Given the description of an element on the screen output the (x, y) to click on. 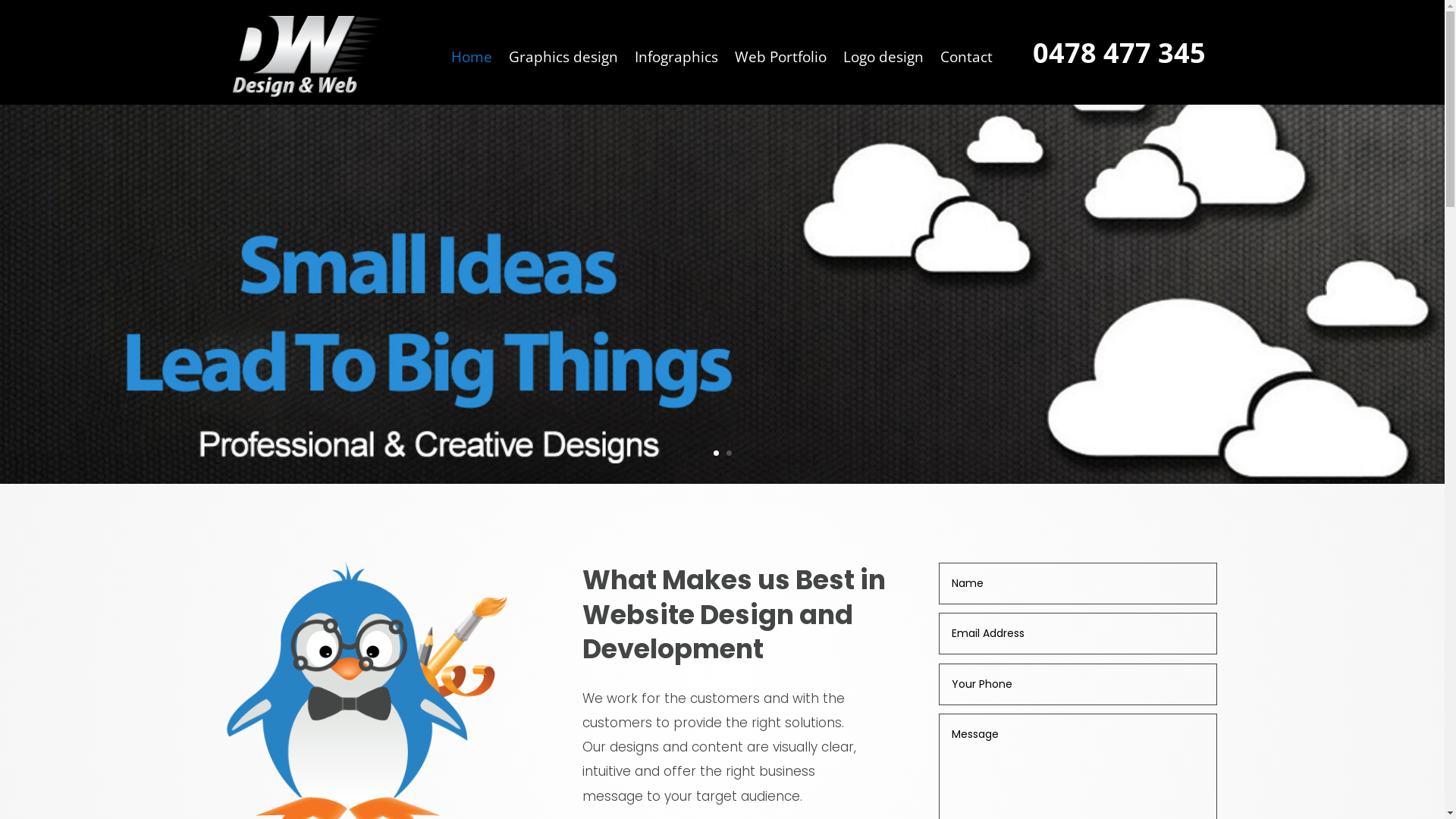
Contact Element type: text (966, 60)
Home Element type: text (471, 60)
SEO company tullamarine Element type: hover (307, 56)
Infographics Element type: text (676, 60)
2 Element type: text (728, 452)
1 Element type: text (715, 452)
Web Portfolio Element type: text (780, 60)
Logo design Element type: text (883, 60)
Only numbers allowed. Element type: hover (1077, 684)
Graphics design Element type: text (563, 60)
